Given the description of an element on the screen output the (x, y) to click on. 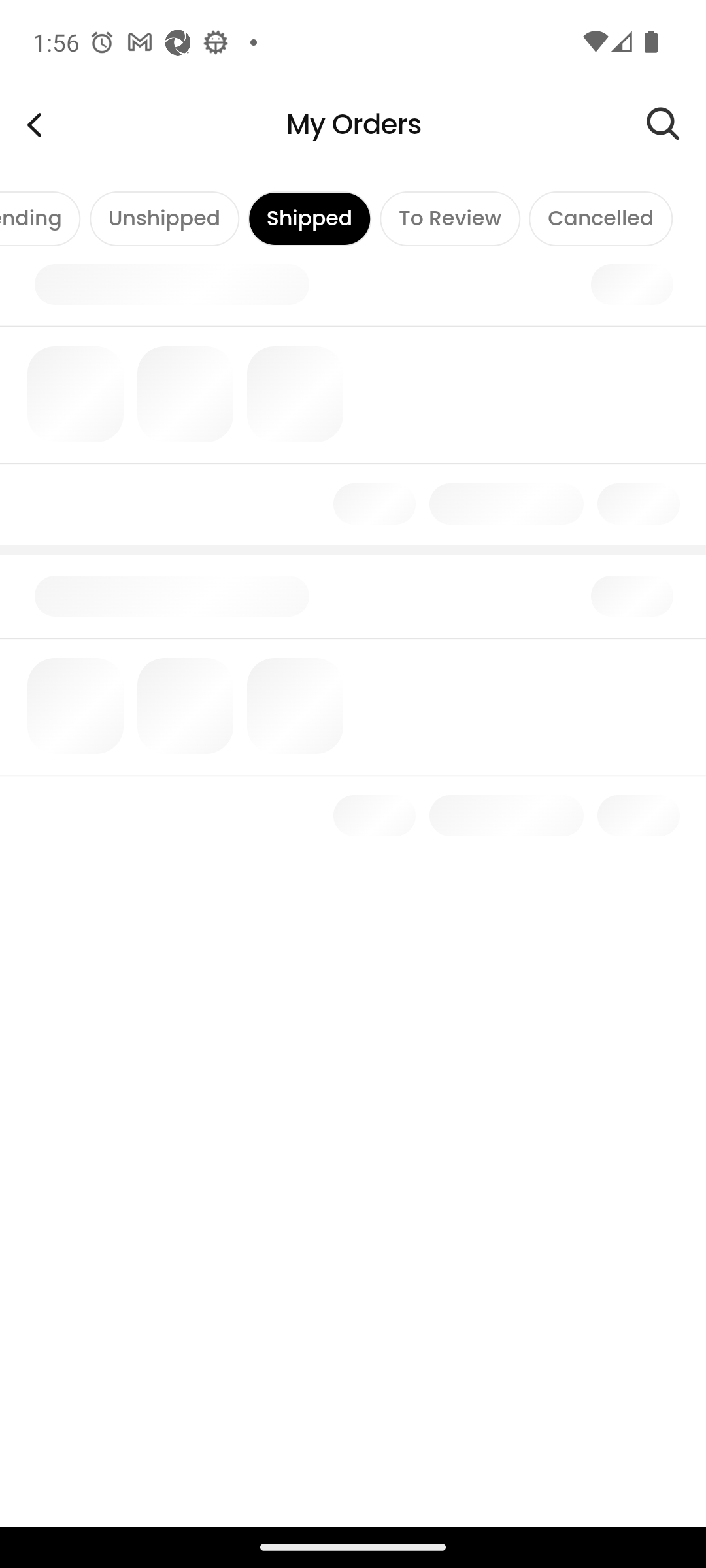
Weee! - Groceries Delivered (33, 124)
 (675, 124)
Pending (41, 218)
Unshipped (163, 218)
Unshipped (163, 218)
Shipped (309, 218)
Shipped (309, 218)
To Review (450, 218)
To Review (450, 218)
Cancelled (600, 218)
Cancelled (600, 218)
